Given the description of an element on the screen output the (x, y) to click on. 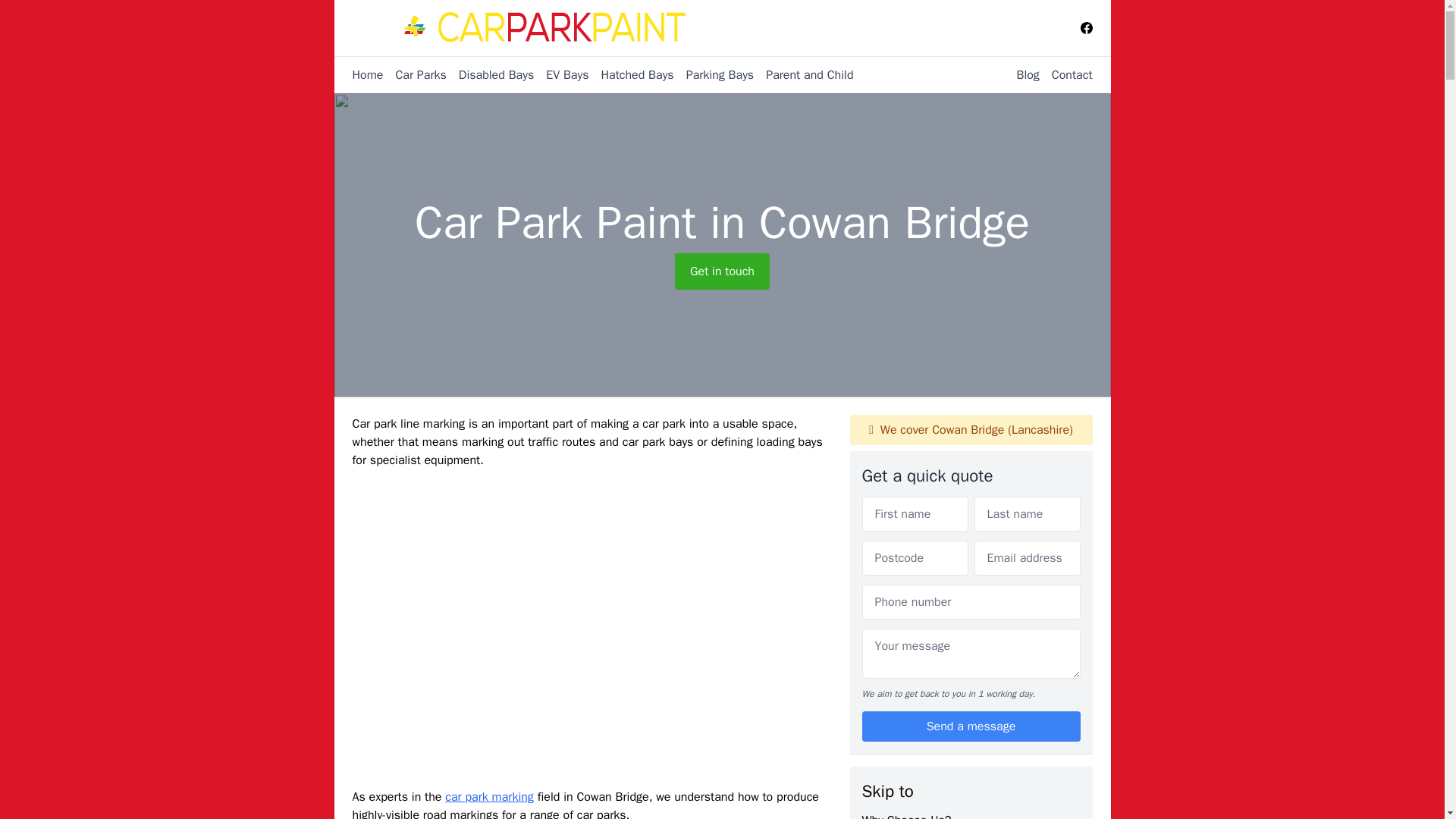
Send a message (970, 726)
Parking Bays (714, 75)
Blog (1021, 74)
Get in touch (722, 271)
car park marking (489, 796)
Contact (1066, 74)
Hatched Bays (630, 75)
Car Parks (413, 75)
Parent and Child (803, 75)
Disabled Bays (490, 75)
Home (367, 75)
Why Choose Us? (905, 816)
EV Bays (561, 75)
Why Choose Us? (905, 816)
